Given the description of an element on the screen output the (x, y) to click on. 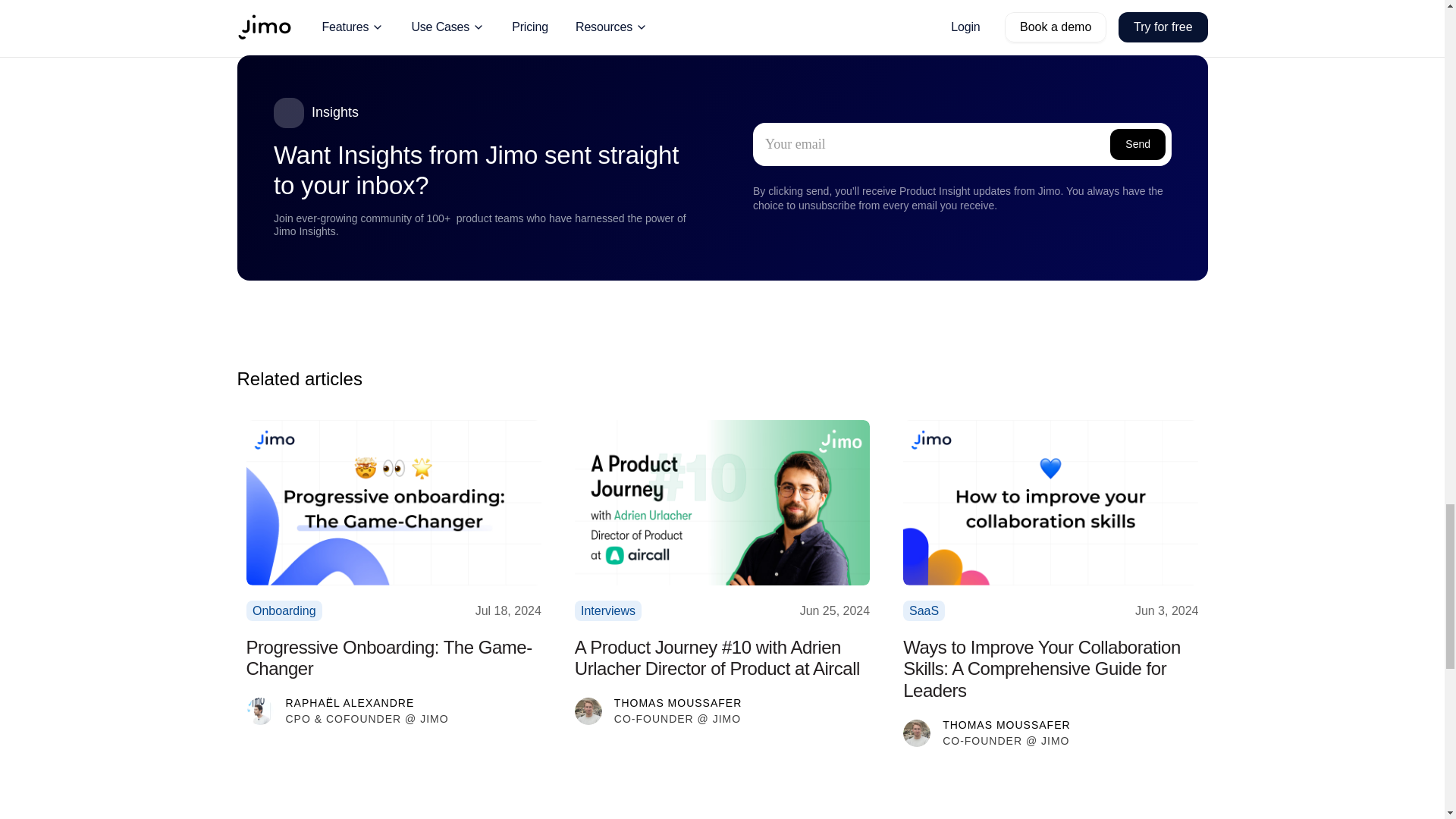
Send (1137, 143)
